Given the description of an element on the screen output the (x, y) to click on. 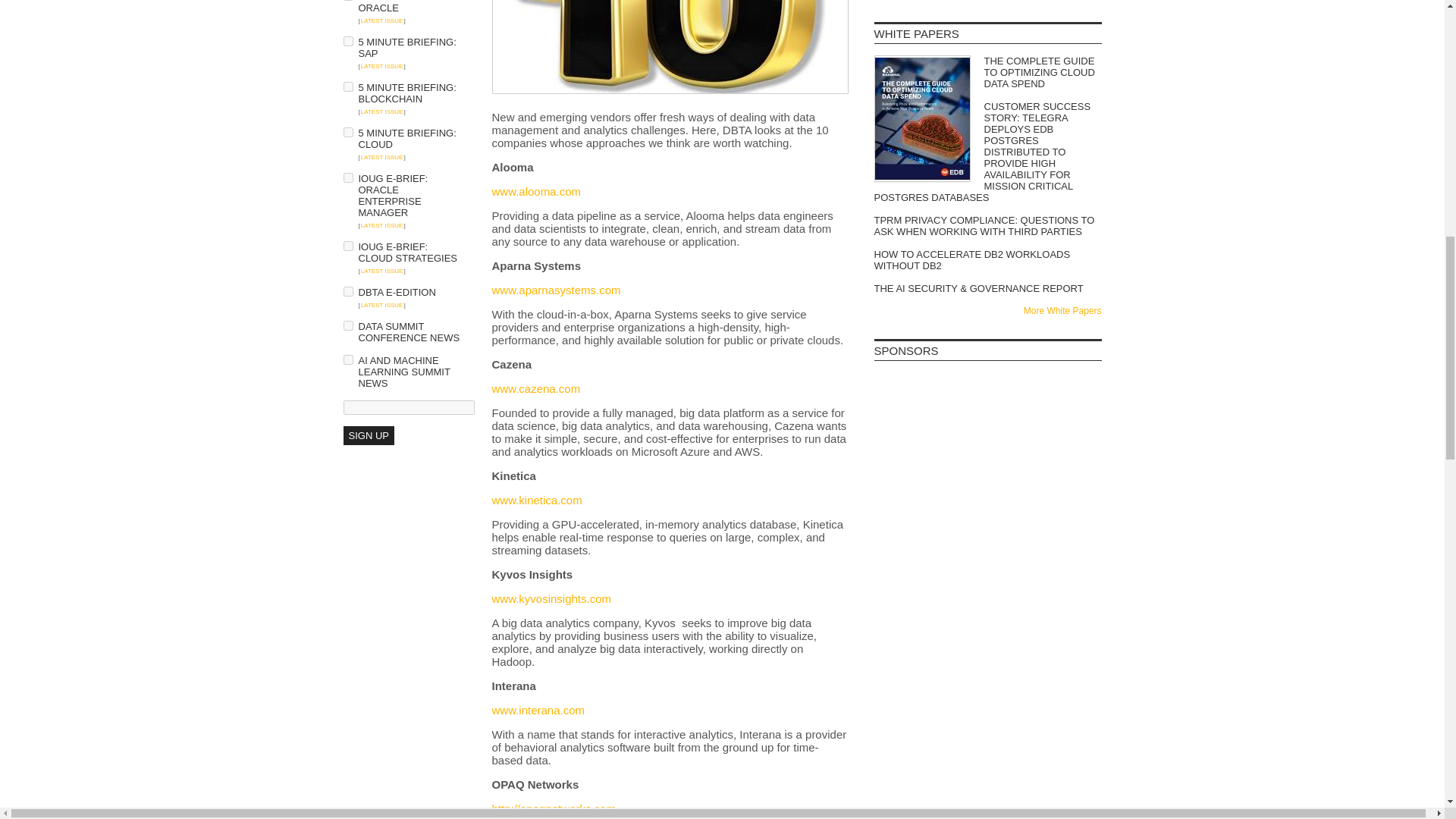
on (347, 245)
Sign Up (367, 435)
on (347, 359)
on (347, 177)
on (347, 291)
The Complete Guide to Optimizing Cloud Data Spend (986, 72)
How to Accelerate DB2 Workloads Without DB2 (986, 259)
3rd party ad content (986, 409)
on (347, 132)
on (347, 86)
3rd party ad content (986, 591)
3rd party ad content (986, 500)
